Given the description of an element on the screen output the (x, y) to click on. 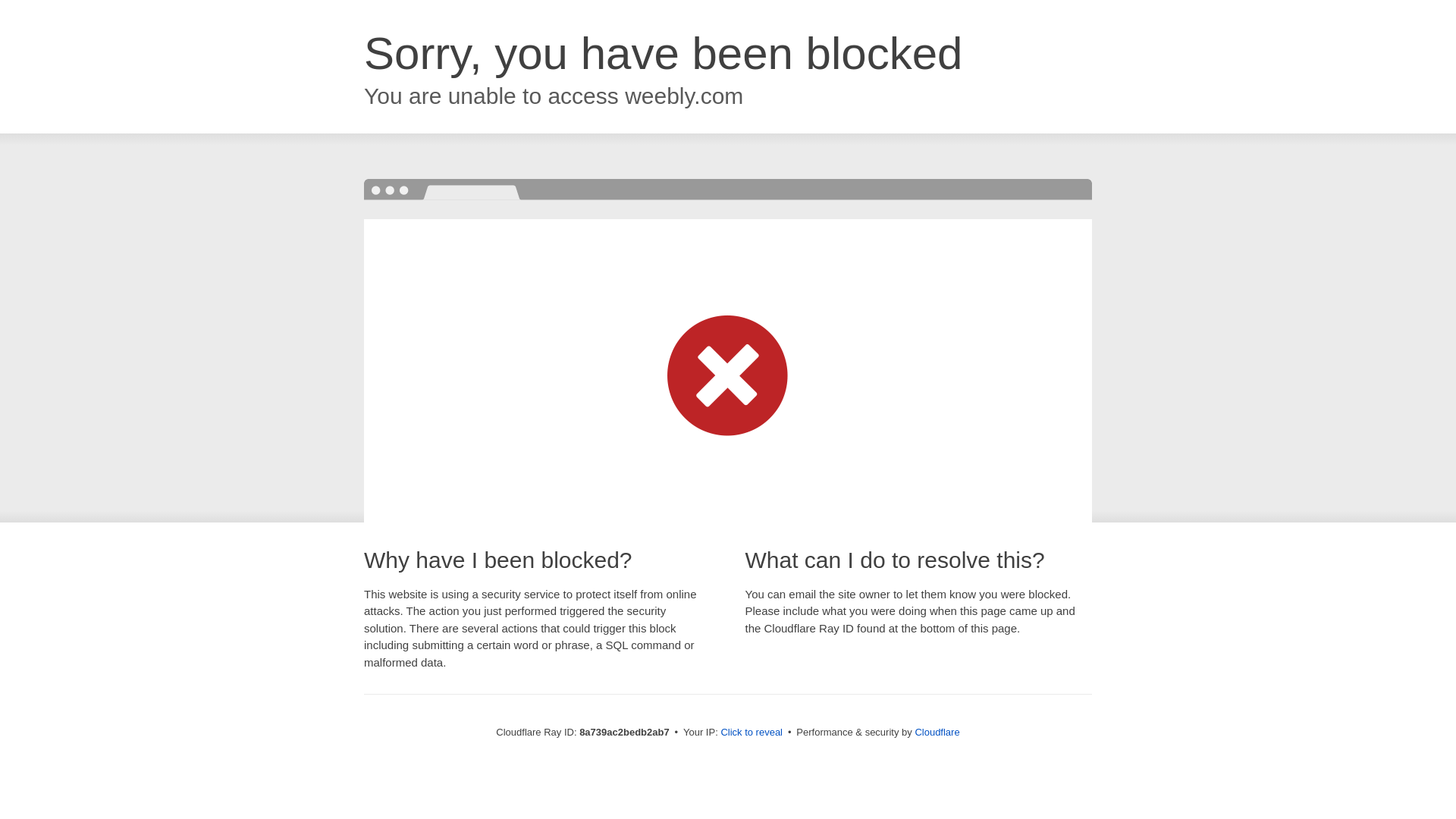
Cloudflare (936, 731)
Click to reveal (751, 732)
